Given the description of an element on the screen output the (x, y) to click on. 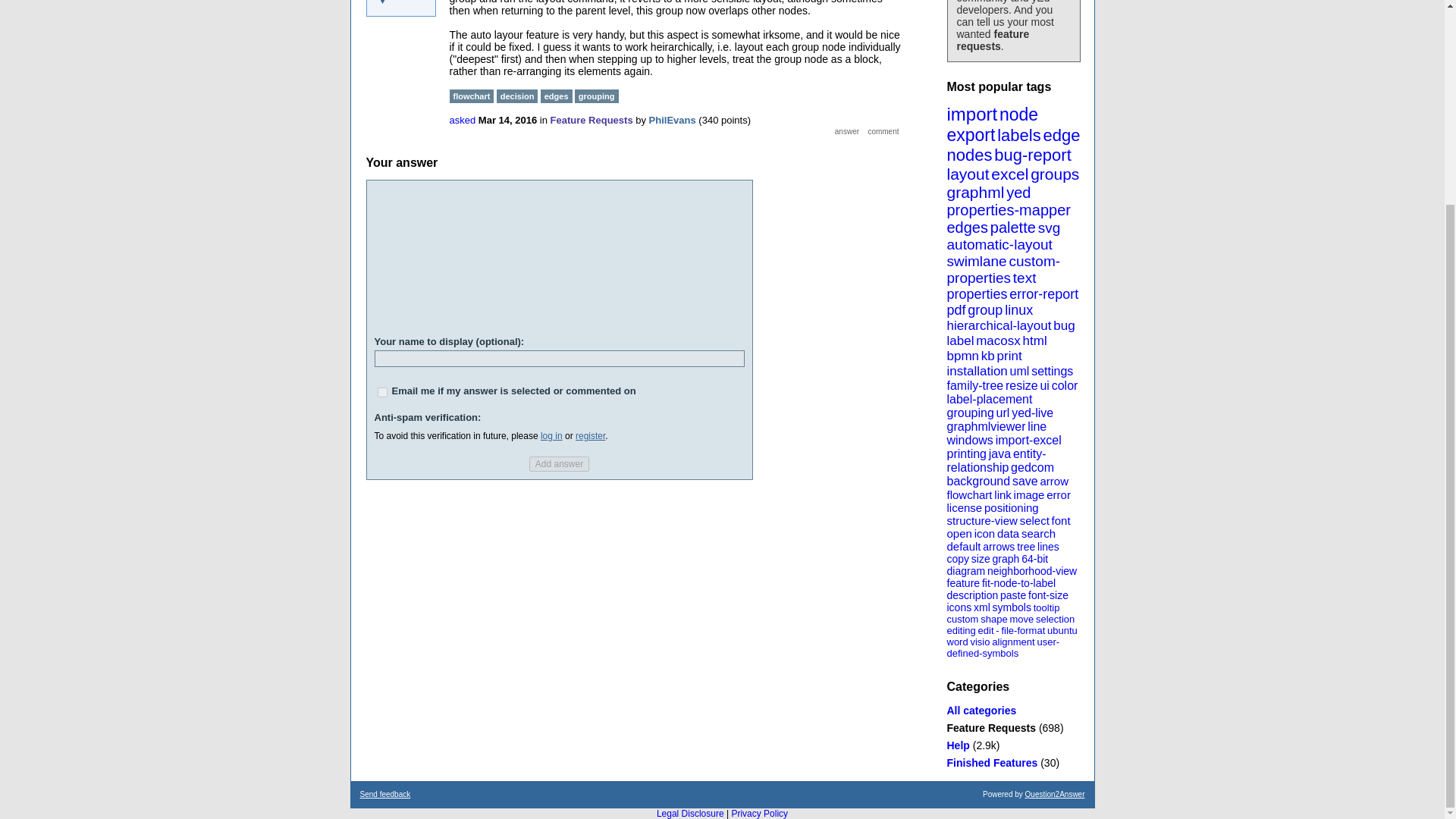
label (960, 340)
properties-mapper (1008, 209)
automatic-layout (998, 244)
1 (382, 392)
comment (882, 131)
custom-properties (1002, 269)
error-report (1043, 294)
yed (1018, 192)
Feature requests from yEd users that are now implemented. (991, 762)
Ask questions related to yEd here. (957, 745)
Answer this question (847, 131)
answer (847, 131)
Add answer (559, 463)
export (970, 134)
edge (1061, 135)
